Given the description of an element on the screen output the (x, y) to click on. 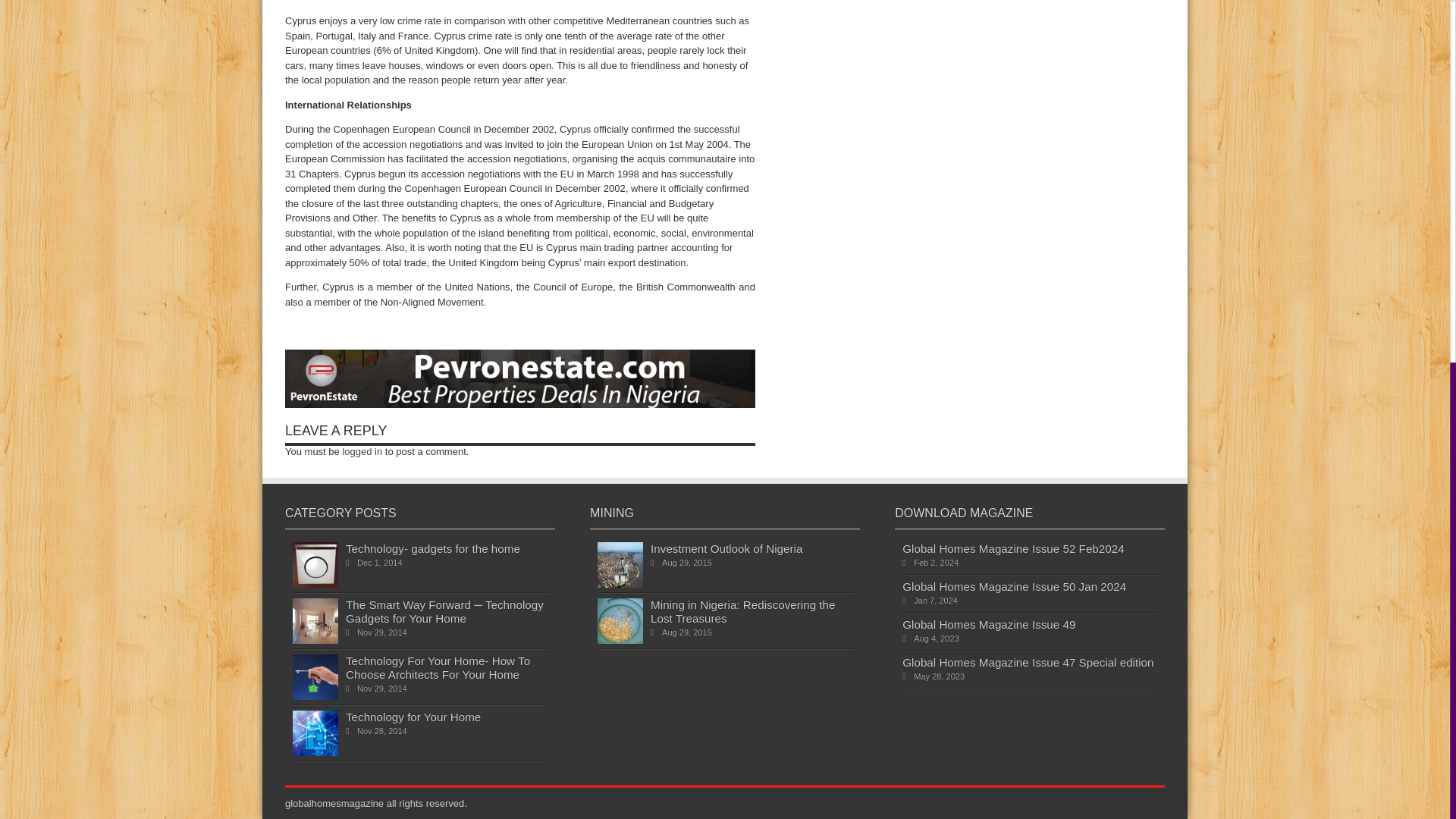
logged in (361, 451)
Permalink to Technology for Your Home (314, 752)
Technology- gadgets for the home (432, 548)
Permalink to Technology- gadgets for the home (314, 583)
Technology for Your Home (413, 716)
Permalink to Investment Outlook of Nigeria (619, 583)
